Given the description of an element on the screen output the (x, y) to click on. 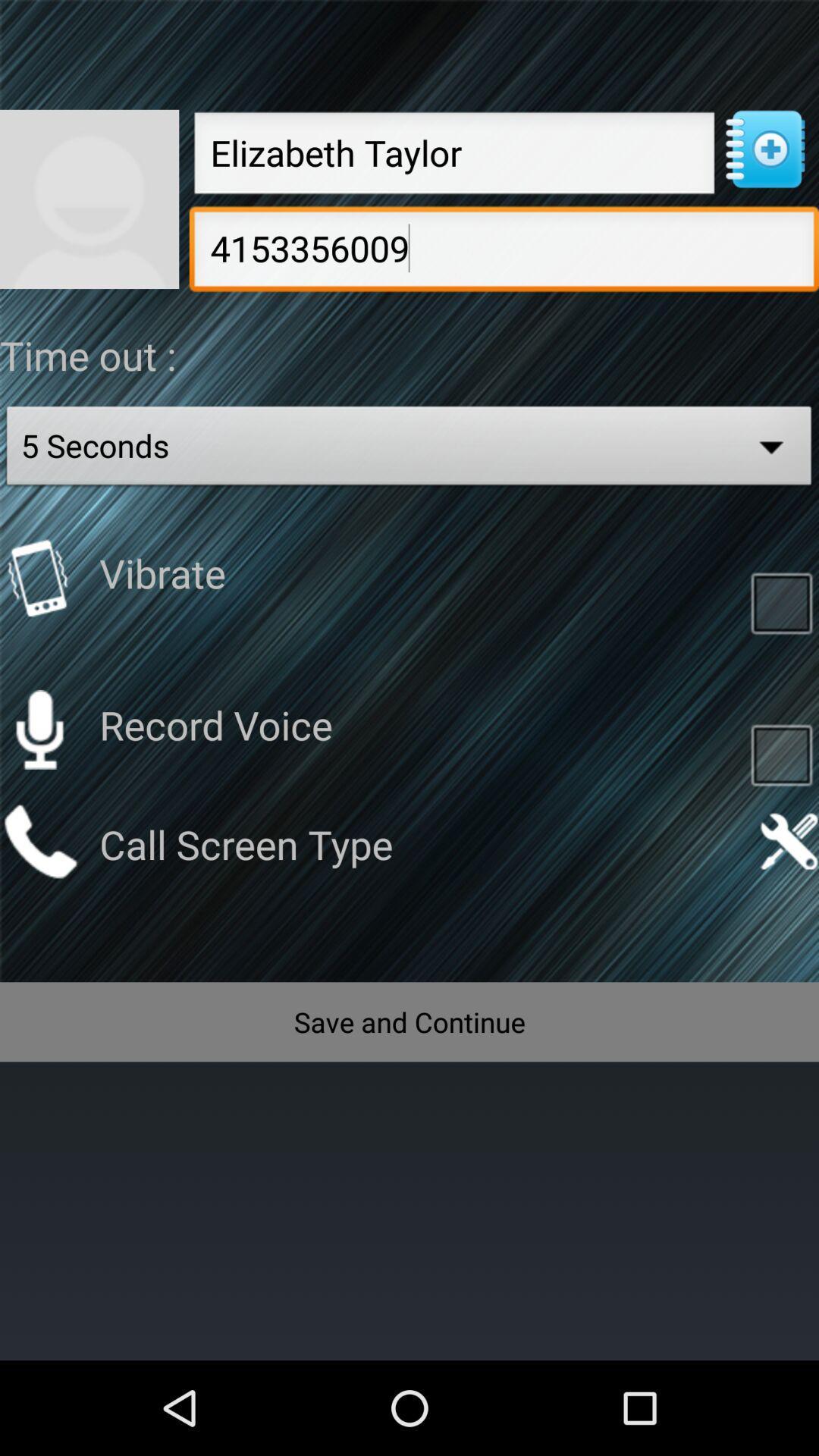
vibration icon (39, 577)
